Given the description of an element on the screen output the (x, y) to click on. 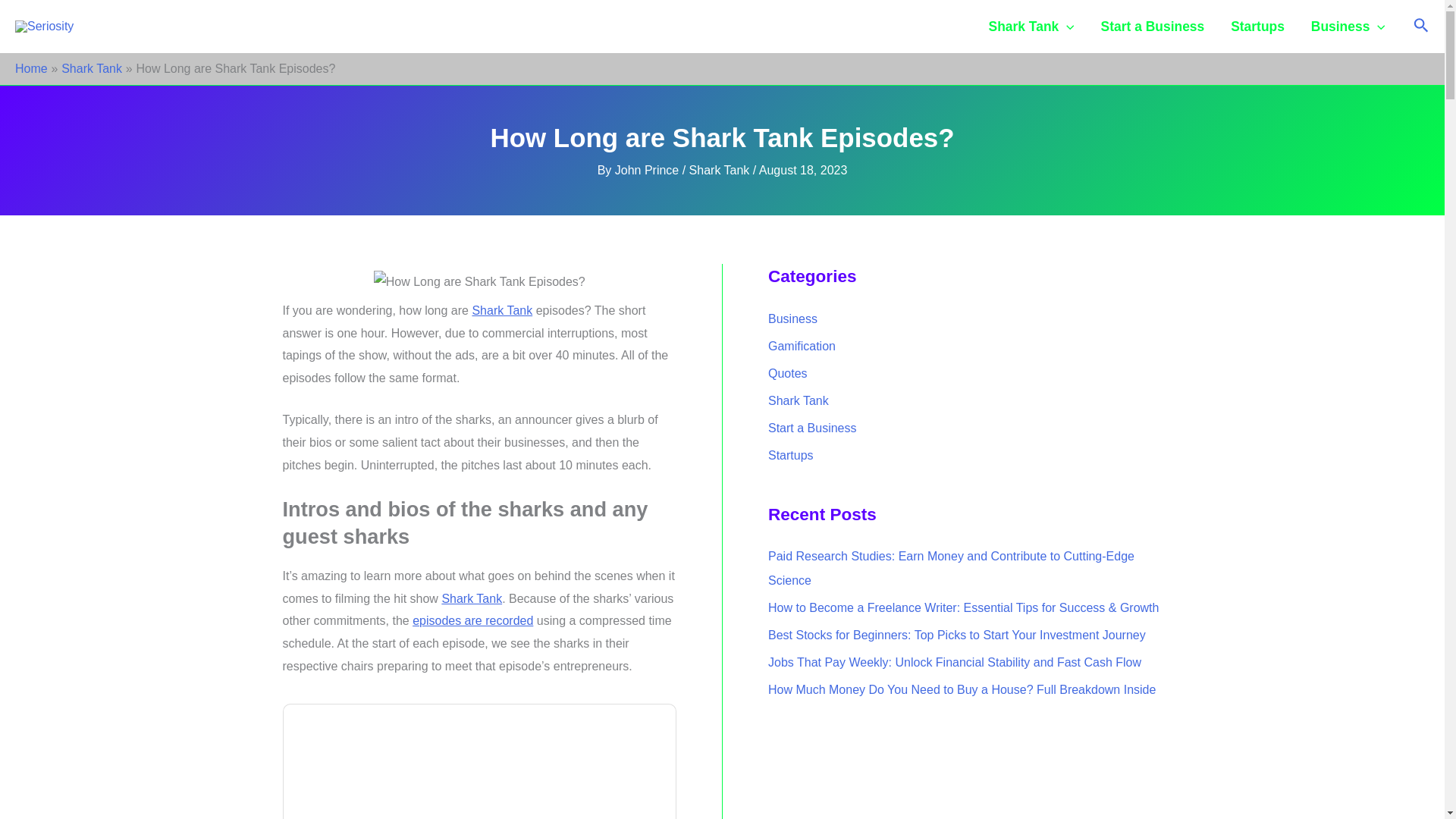
Shark Tank (501, 309)
The Art of Comedy Presents (479, 766)
View all posts by John Prince (648, 169)
Home (31, 68)
John Prince (648, 169)
Business (1347, 26)
Start a Business (1152, 26)
Shark Tank (501, 309)
Shark Tank (91, 68)
Shark Tank (471, 598)
